Given the description of an element on the screen output the (x, y) to click on. 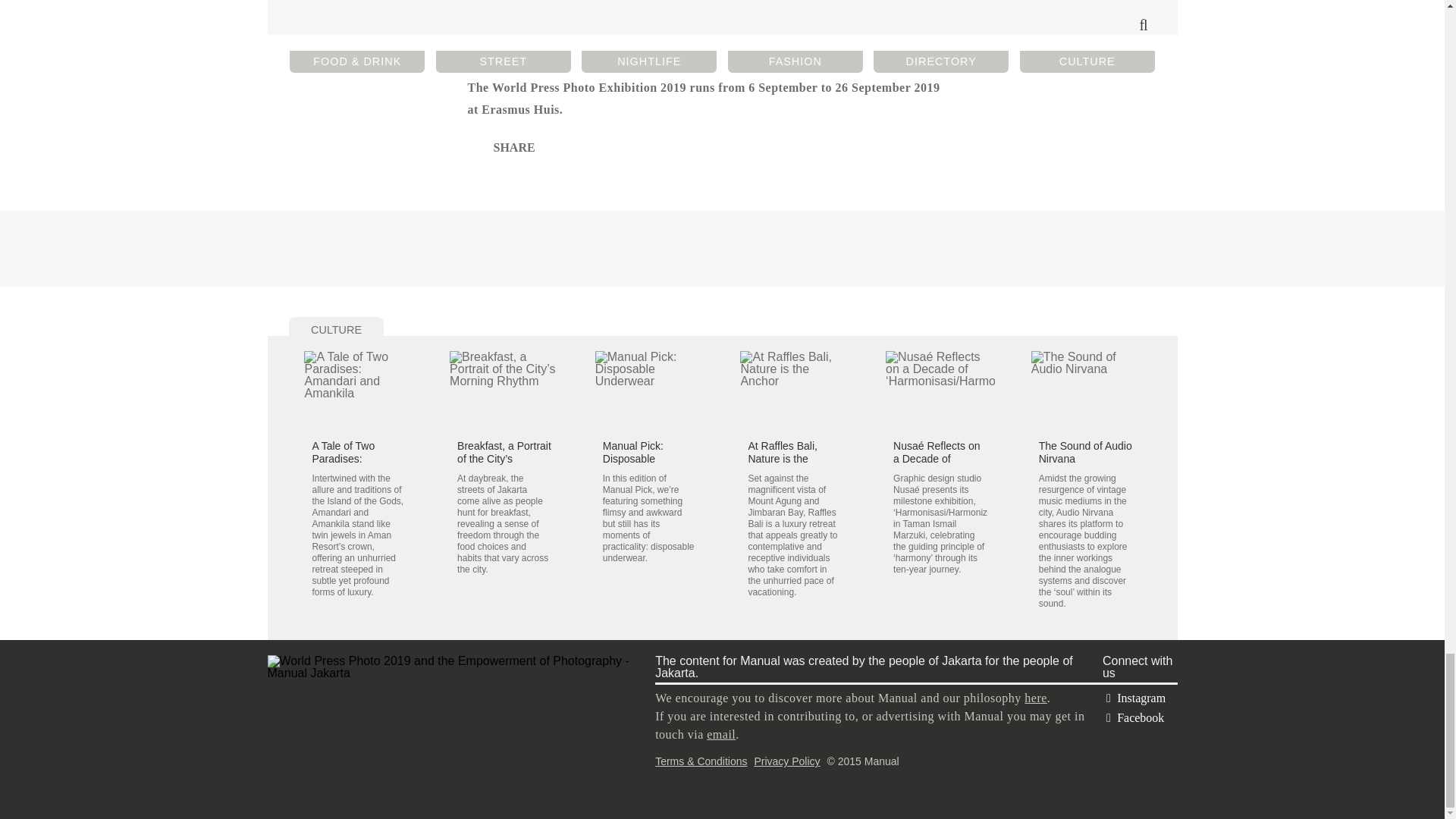
A Tale of Two Paradises: Amandari and Amankila (344, 464)
Read At Raffles Bali, Nature is the Anchor (782, 458)
Read Manual Pick: Disposable Underwear (632, 458)
Manual Pick: Disposable Underwear (632, 458)
Read At Raffles Bali, Nature is the Anchor (793, 391)
The Sound of Audio Nirvana (1085, 452)
At Raffles Bali, Nature is the Anchor (782, 458)
Read A Tale of Two Paradises: Amandari and Amankila (358, 391)
email (720, 734)
Instagram (1134, 697)
